Given the description of an element on the screen output the (x, y) to click on. 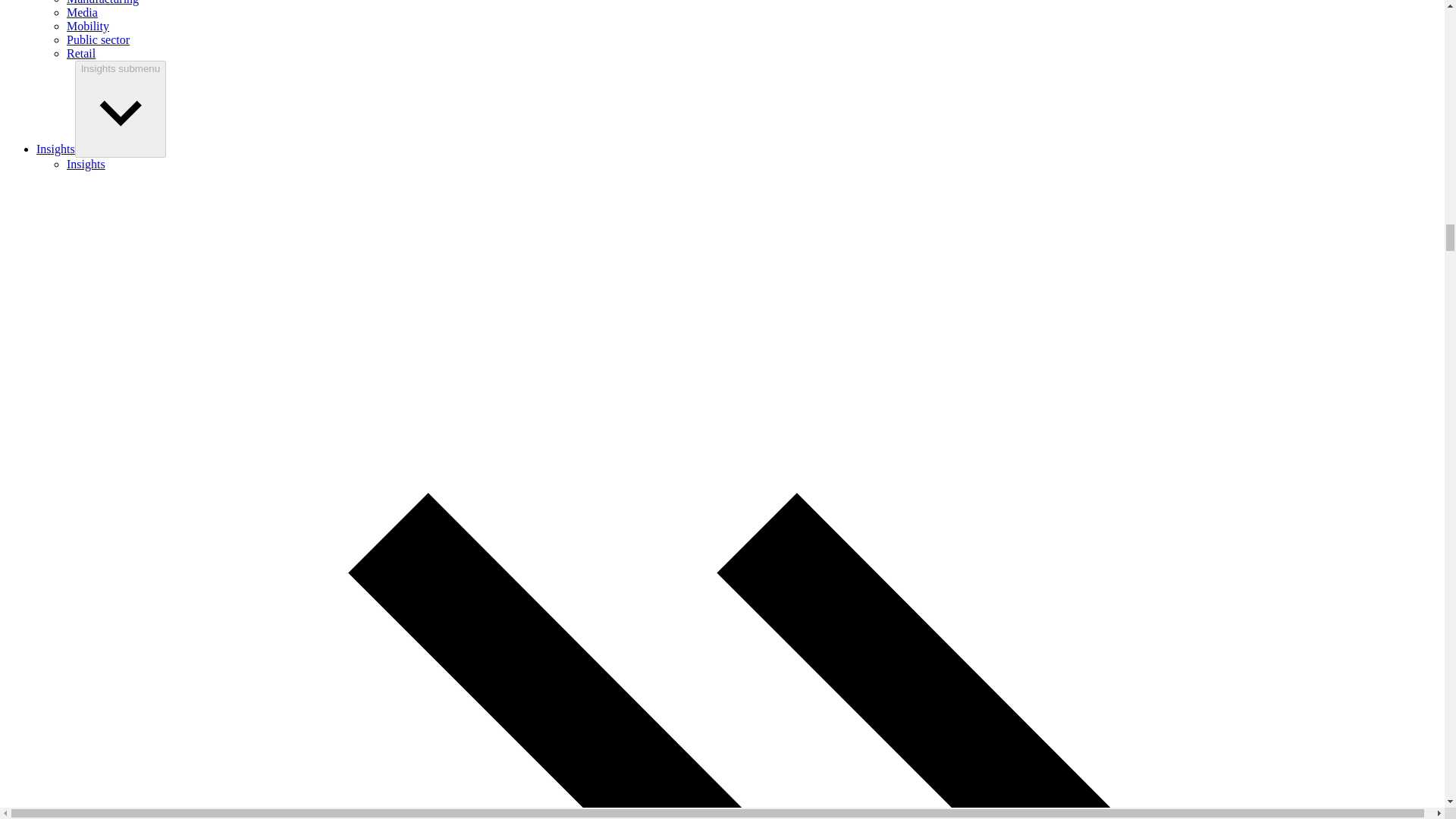
Retail (81, 52)
Insights (55, 148)
Public sector (97, 39)
Media (81, 11)
Insights submenu (120, 109)
Manufacturing (102, 2)
Mobility (87, 25)
